Given the description of an element on the screen output the (x, y) to click on. 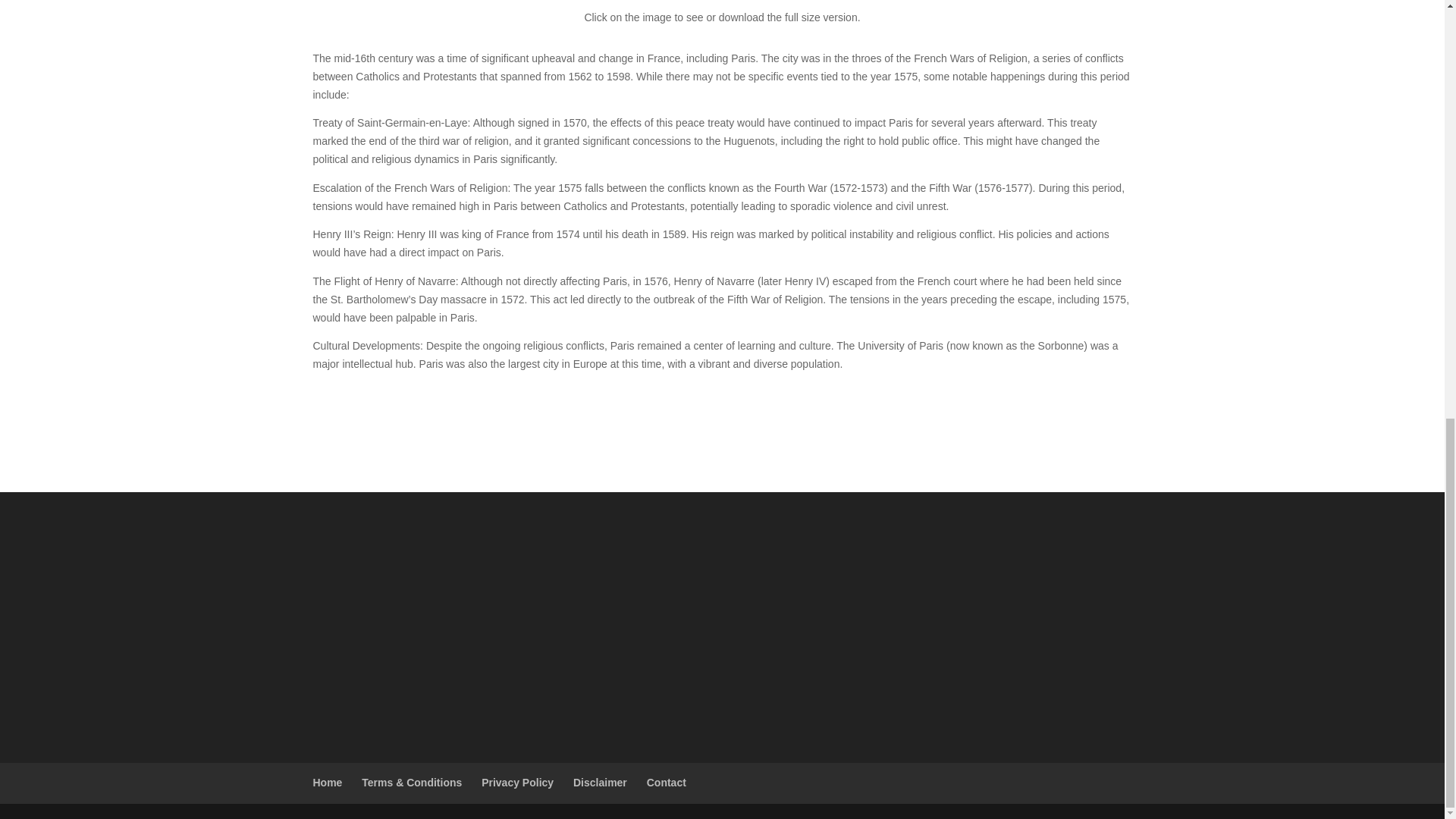
Home (327, 782)
Contact (665, 782)
Privacy Policy (517, 782)
Disclaimer (600, 782)
